Given the description of an element on the screen output the (x, y) to click on. 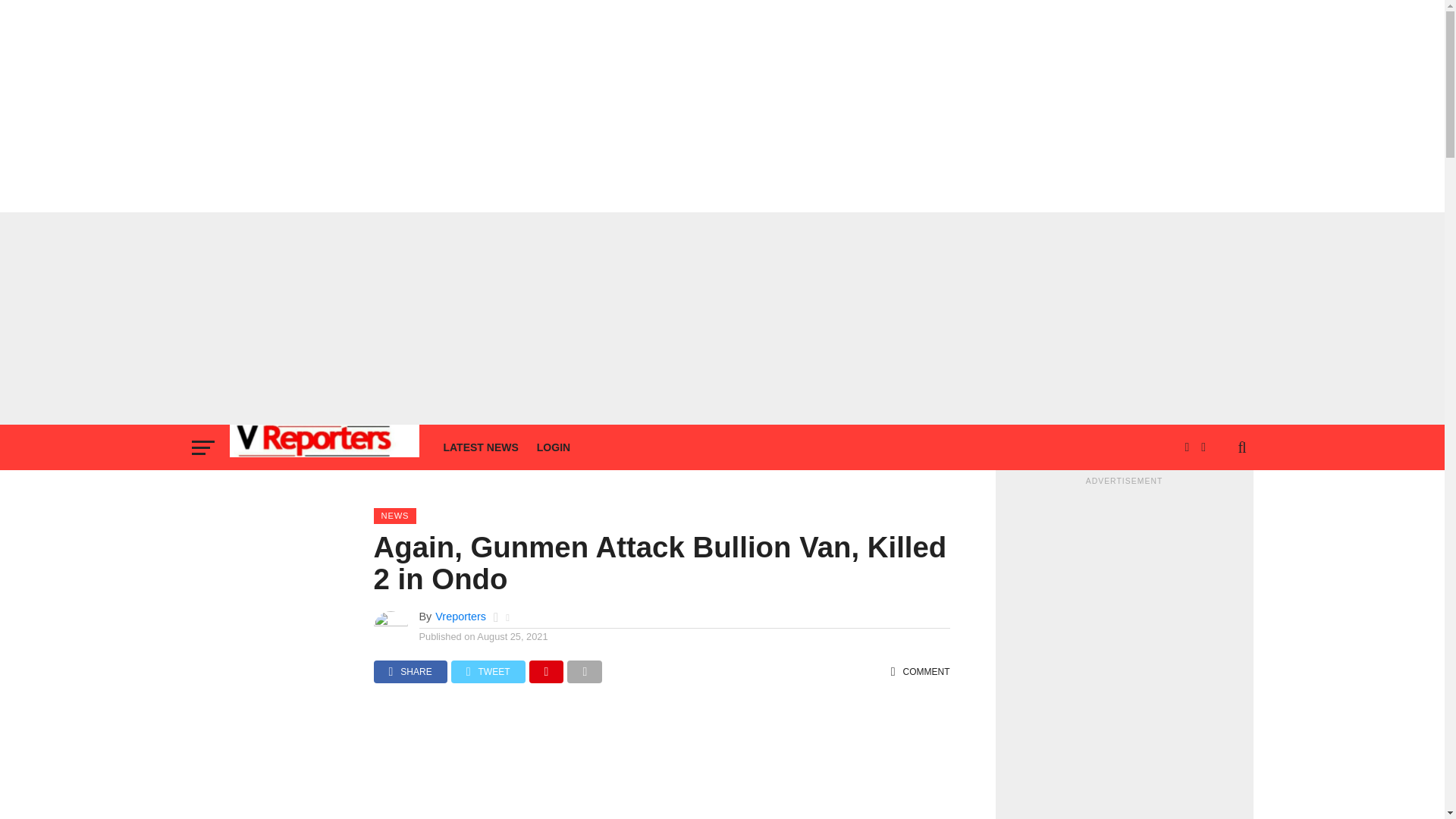
Posts by Vreporters (460, 616)
LATEST NEWS (480, 447)
LOGIN (553, 447)
Advertisement (660, 766)
Vreporters (460, 616)
